Given the description of an element on the screen output the (x, y) to click on. 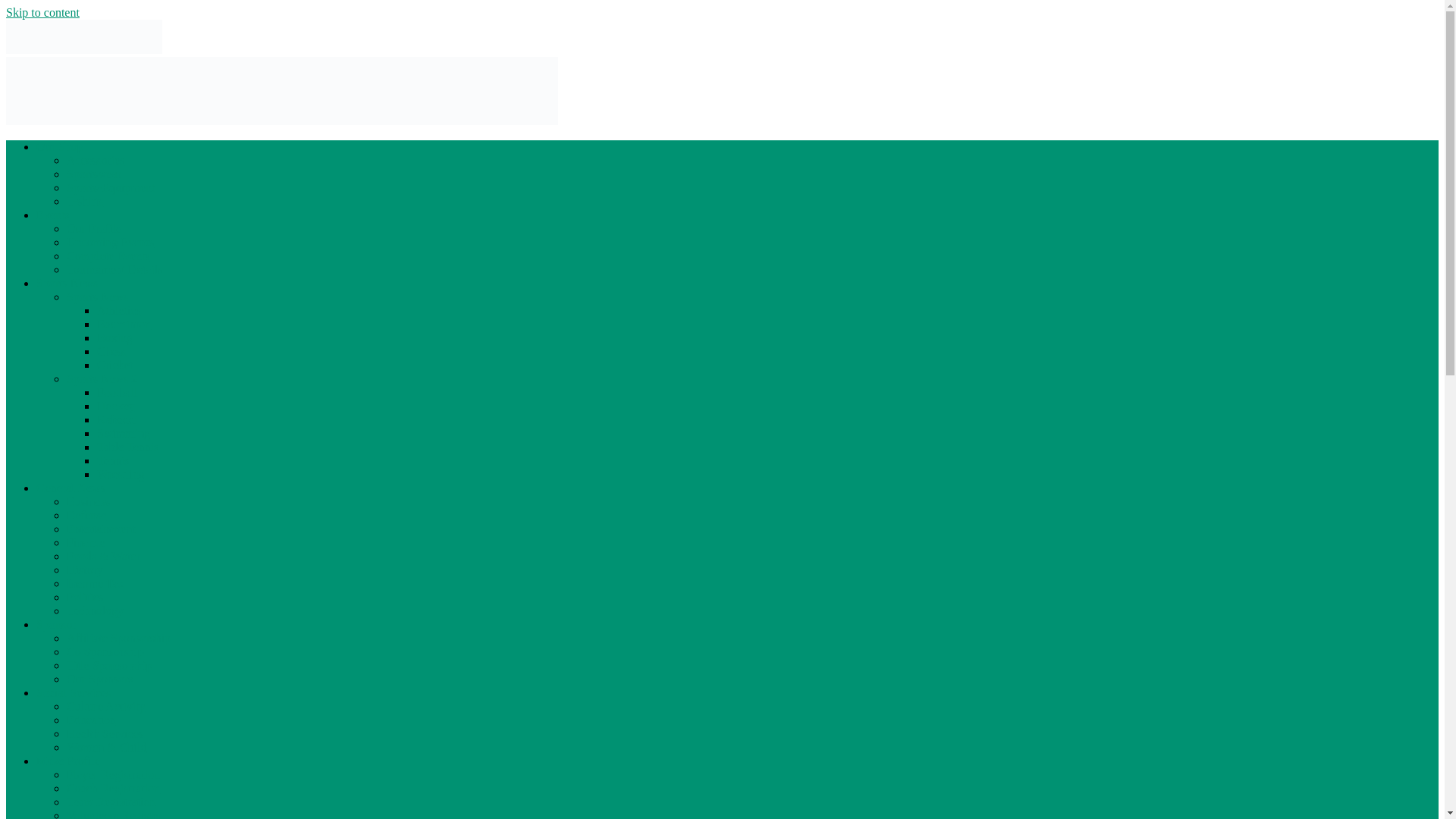
Bharatiya Khel Utthan Trust (74, 74)
History (84, 569)
Swimming (123, 432)
Skip to content (42, 11)
Sports News 2 (101, 378)
Complete Events (107, 255)
Our Profile (93, 228)
Sports News (97, 296)
Athletics (119, 309)
Hockey (116, 405)
